Given the description of an element on the screen output the (x, y) to click on. 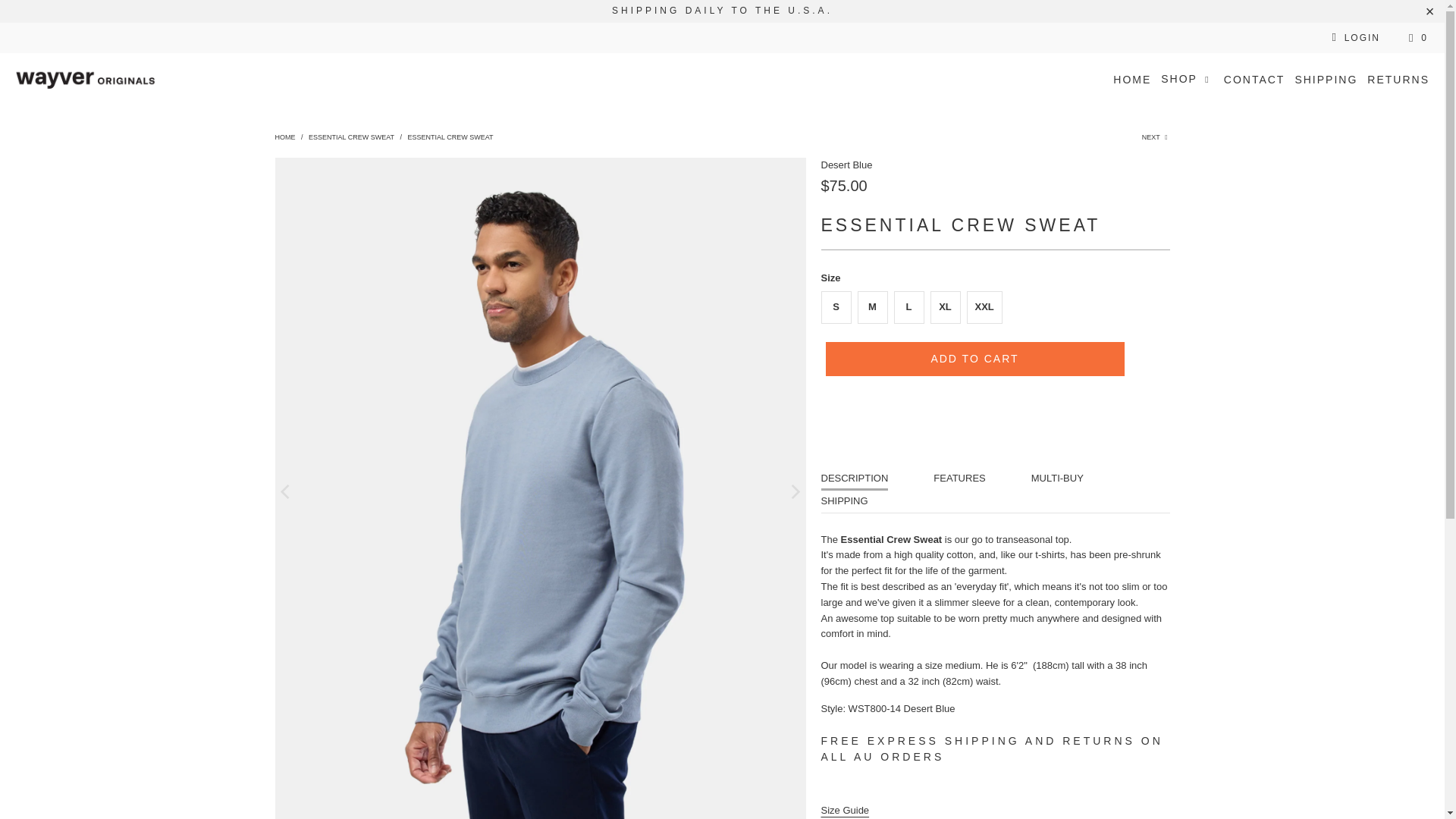
Essential Crew Sweat (352, 136)
Next (1155, 136)
Wayver Free Shipping (920, 740)
My Account  (1353, 37)
Wayver Originals (286, 136)
Wayver Originals (84, 79)
